Given the description of an element on the screen output the (x, y) to click on. 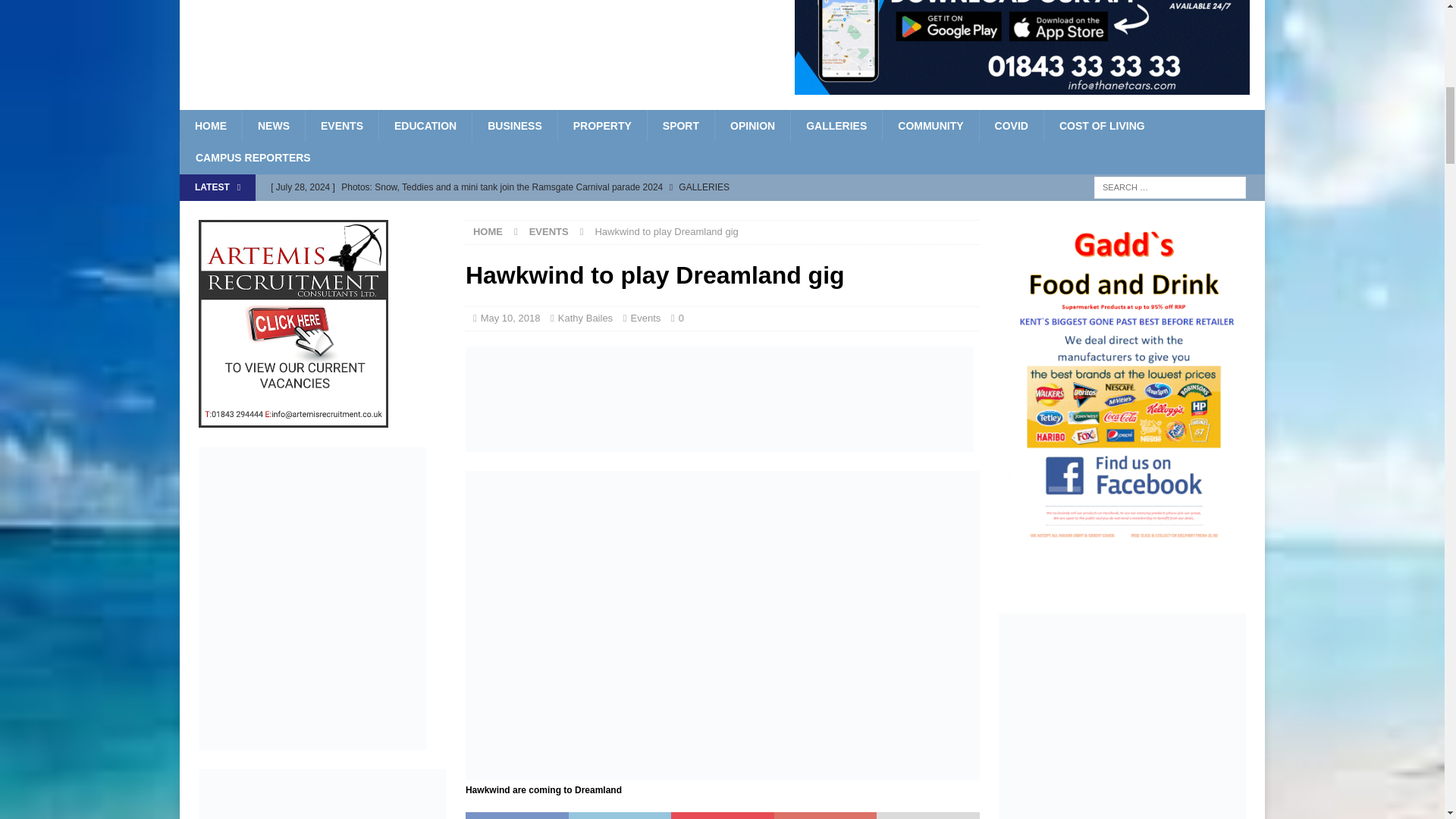
Margate RNLI called to swimmer in difficulty at Main Sands (574, 212)
